Given the description of an element on the screen output the (x, y) to click on. 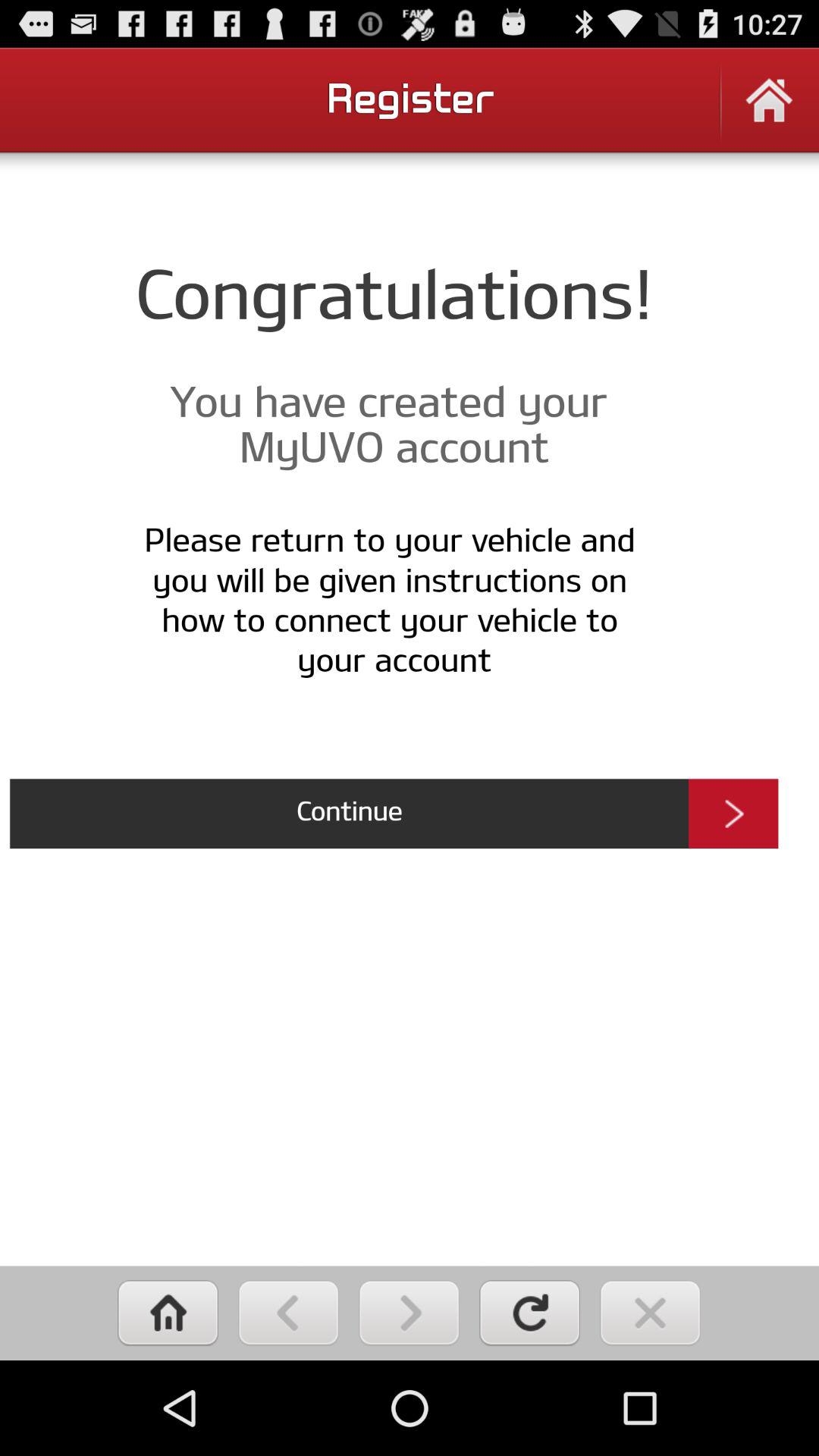
go to home (769, 110)
